Given the description of an element on the screen output the (x, y) to click on. 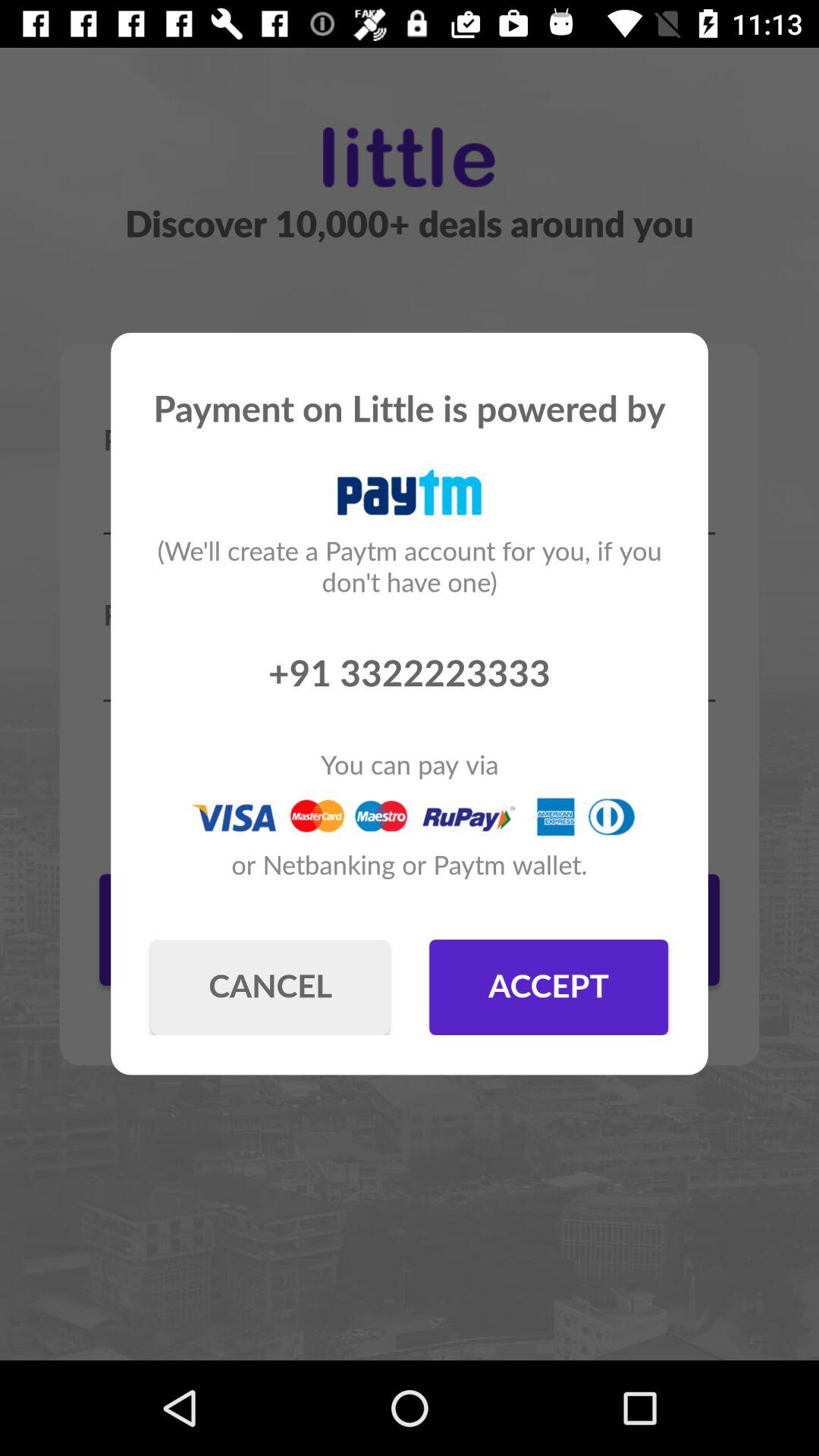
turn on app below the or netbanking or app (548, 987)
